Given the description of an element on the screen output the (x, y) to click on. 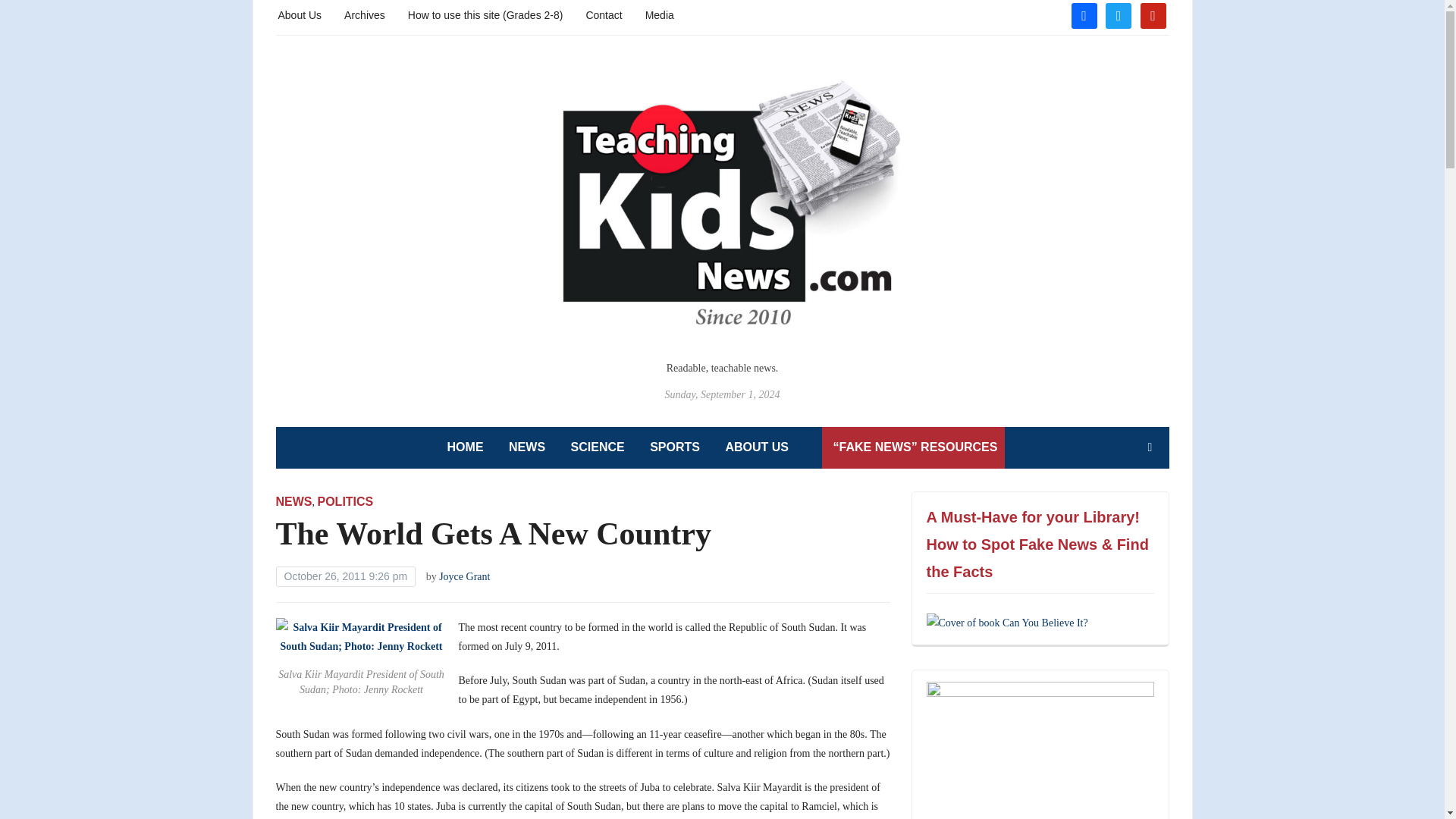
Past articles (364, 14)
Friend me on Facebook (1083, 14)
twitter (1118, 14)
facebook (1083, 14)
SCIENCE (597, 447)
Follow Me (1118, 14)
HOME (464, 447)
Media (659, 14)
Want to reach us? (603, 14)
